Given the description of an element on the screen output the (x, y) to click on. 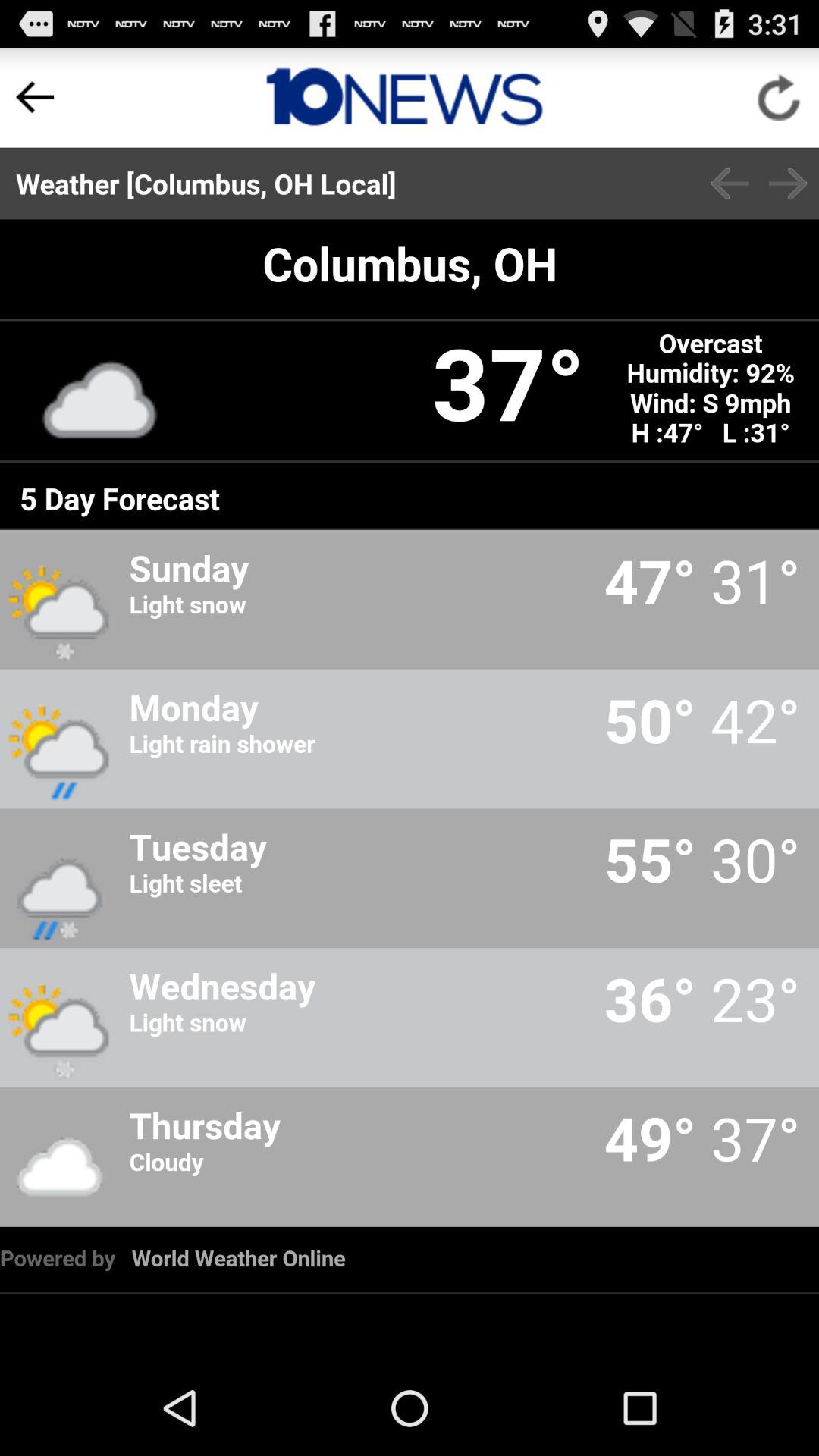
tag the headline (404, 97)
